Given the description of an element on the screen output the (x, y) to click on. 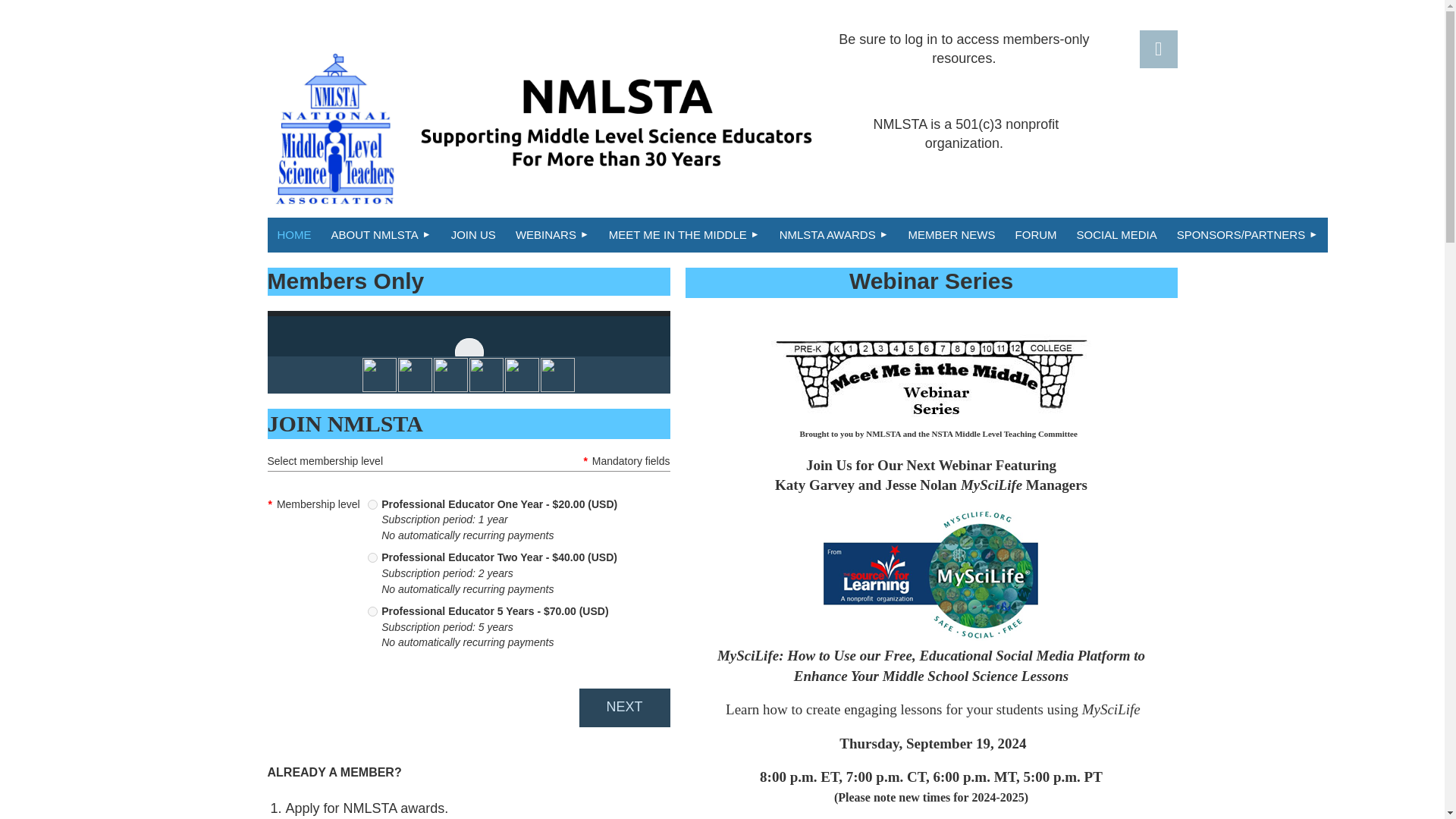
HOME (293, 234)
WEBINARS (551, 234)
Log in (1157, 48)
ABOUT NMLSTA (381, 234)
MEET ME IN THE MIDDLE (684, 234)
NMLSTA AWARDS (834, 234)
JOIN US (473, 234)
Next (624, 707)
